Given the description of an element on the screen output the (x, y) to click on. 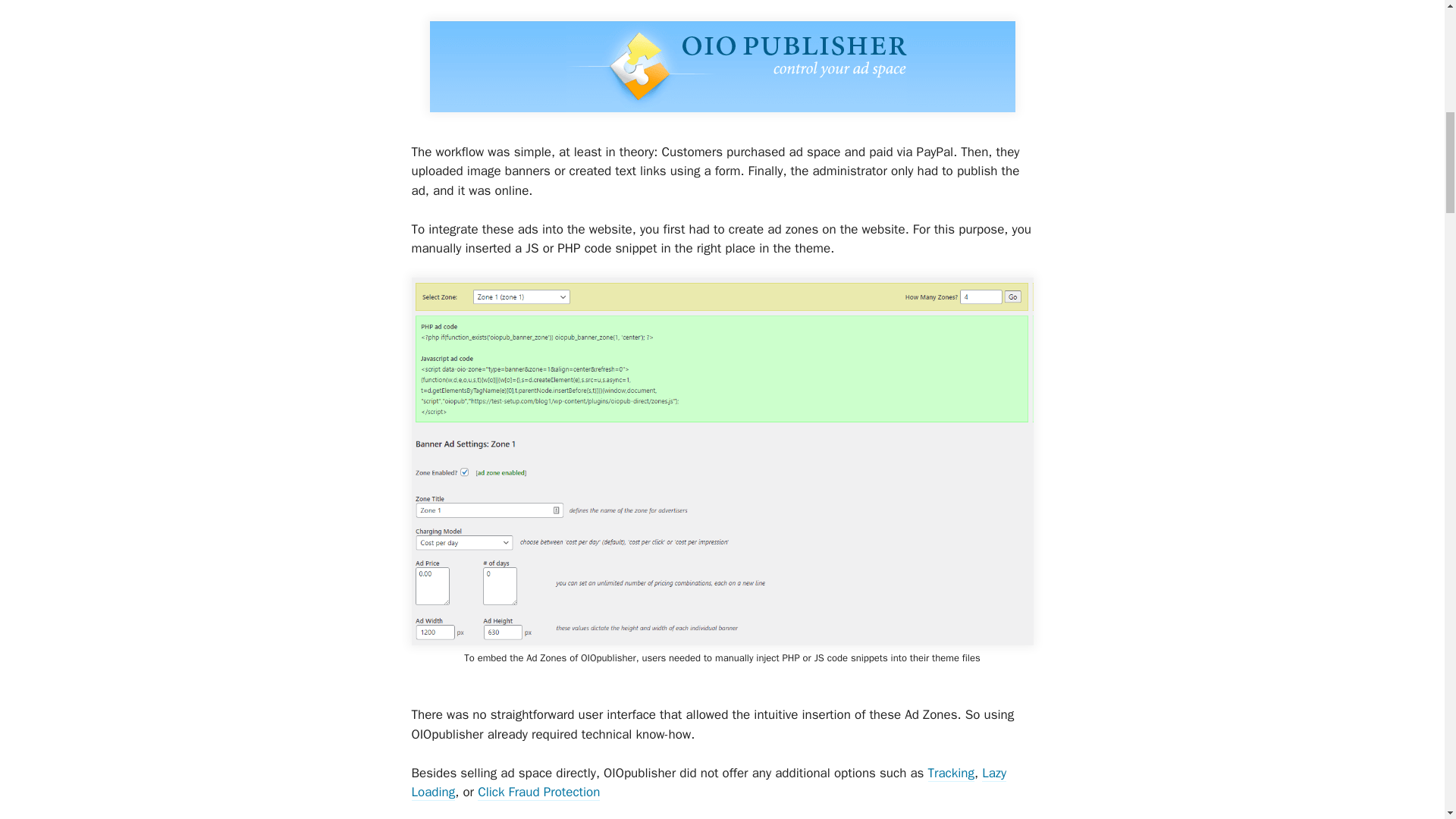
Scroll back to top (1406, 720)
Tracking (951, 773)
